Given the description of an element on the screen output the (x, y) to click on. 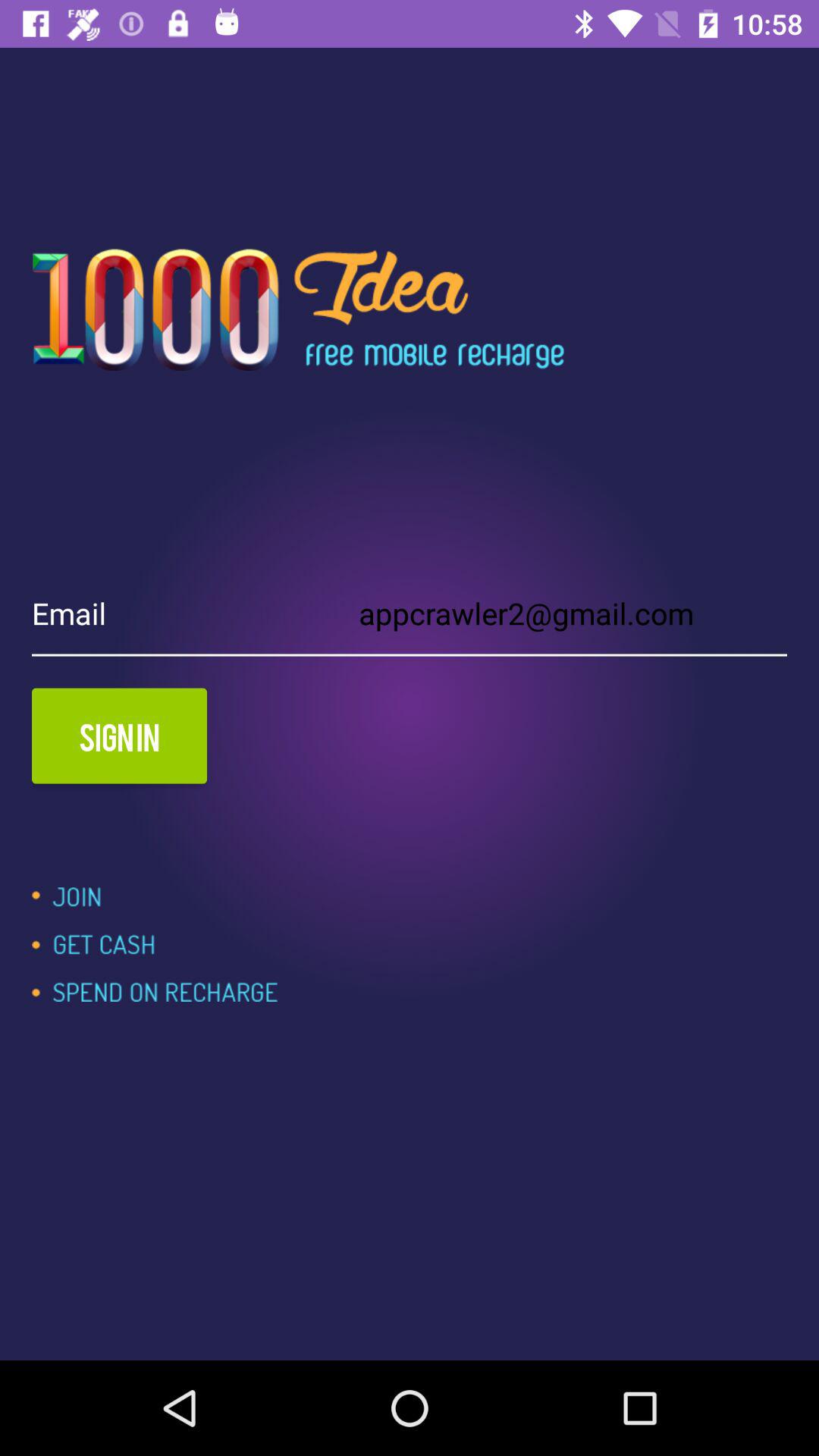
swipe until sign in item (119, 735)
